Given the description of an element on the screen output the (x, y) to click on. 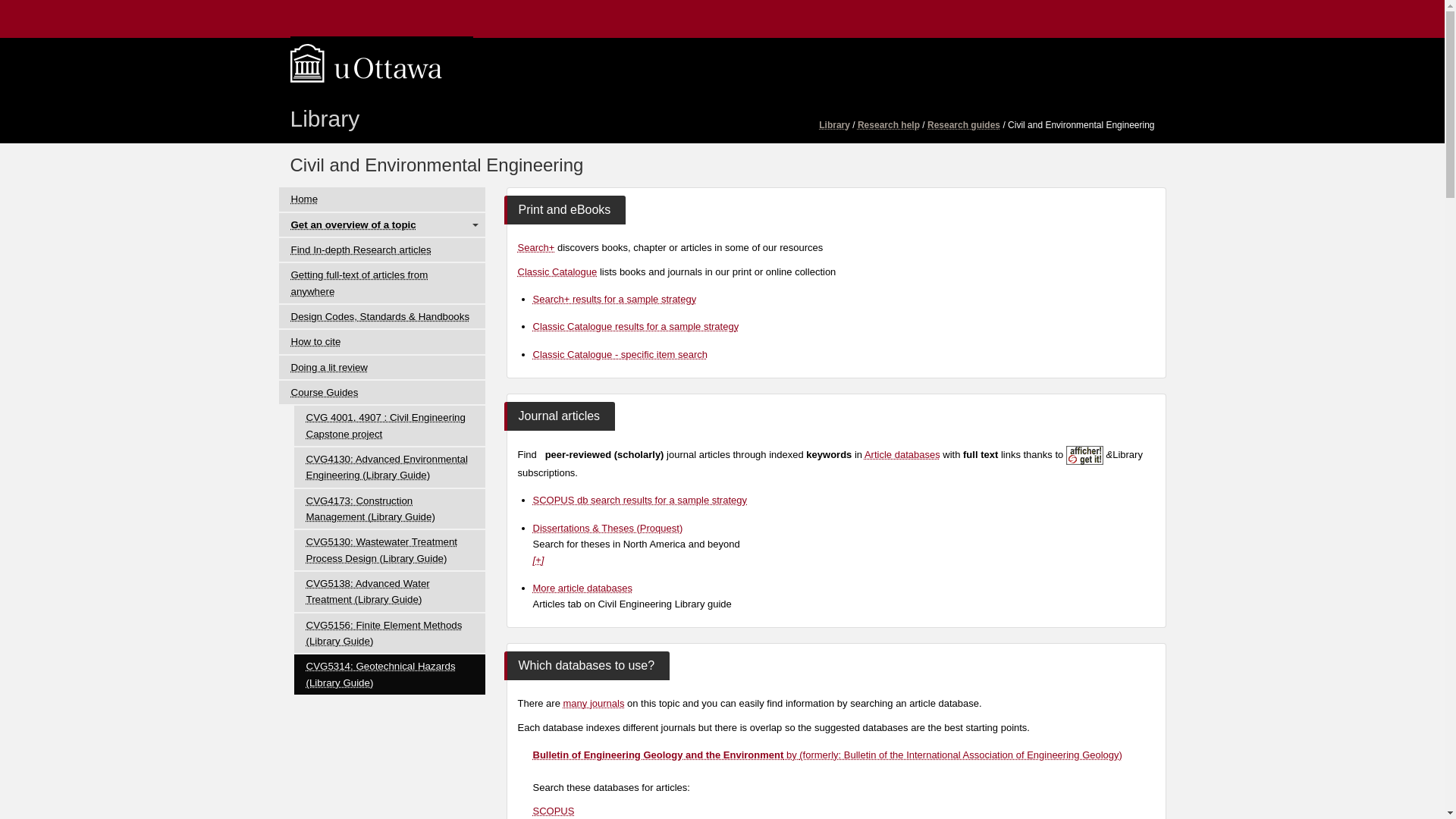
Toggle Dropdown (474, 224)
SCOPUS (552, 810)
Classic Catalogue - specific item search (619, 354)
Getting full-text of articles from anywhere (381, 282)
Doing a lit review (381, 367)
SCOPUS db search results for a sample strategy (639, 500)
Get an overview of a topic (381, 224)
Article databases (902, 454)
CVG 4001, 4907 : Civil Engineering Capstone project (389, 425)
Home (381, 198)
Library (330, 115)
Classic Catalogue (556, 271)
Library (834, 124)
many journals (593, 703)
